Given the description of an element on the screen output the (x, y) to click on. 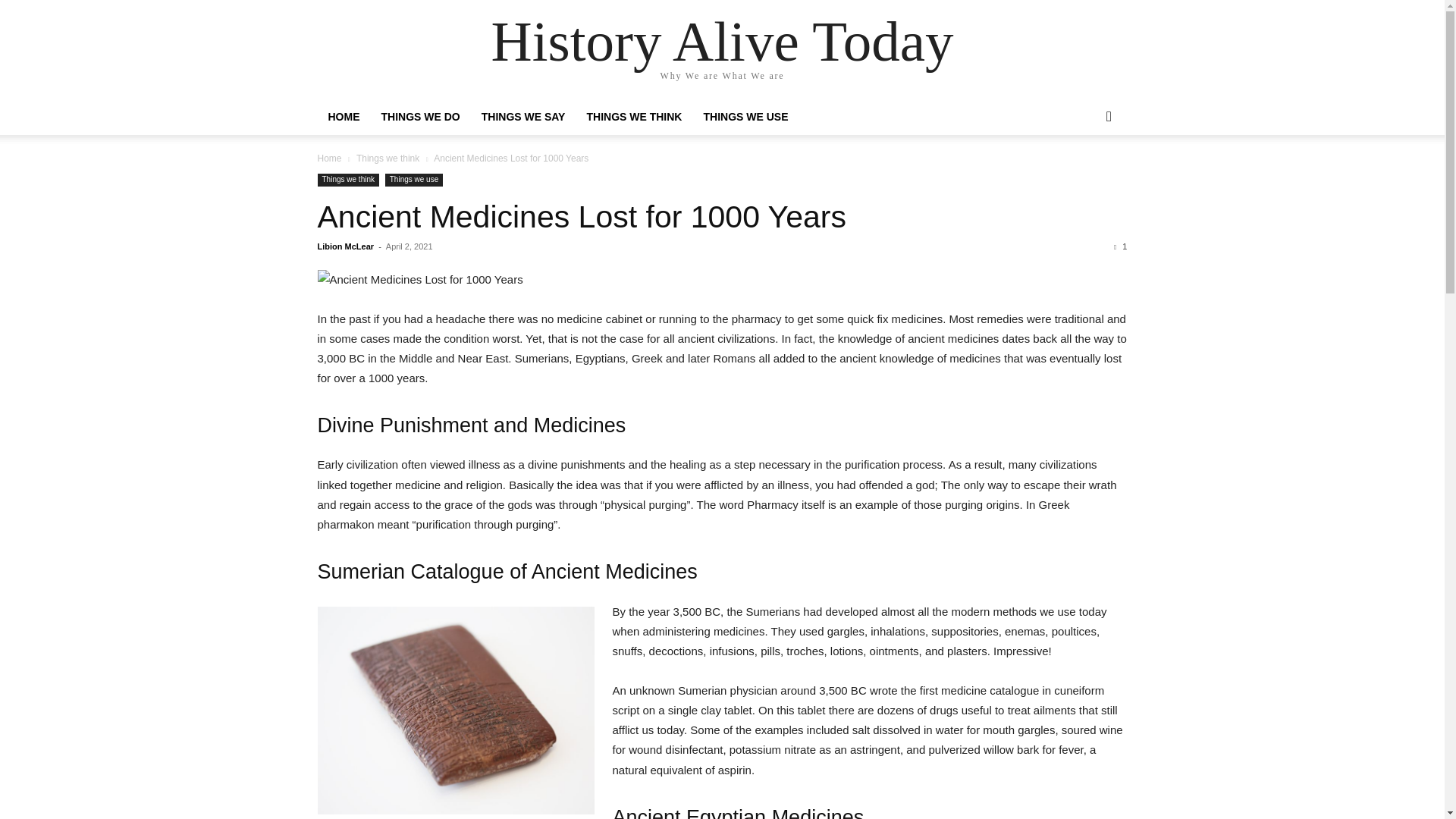
HOME (343, 116)
THINGS WE THINK (634, 116)
Things we think (347, 179)
Things we think (387, 158)
Things we use (413, 179)
Ancient Medicines Lost for 1000 Years (581, 216)
1 (1119, 245)
THINGS WE USE (745, 116)
Libion McLear (345, 245)
Ancient Medicines Lost for 1000 Years (721, 279)
